Given the description of an element on the screen output the (x, y) to click on. 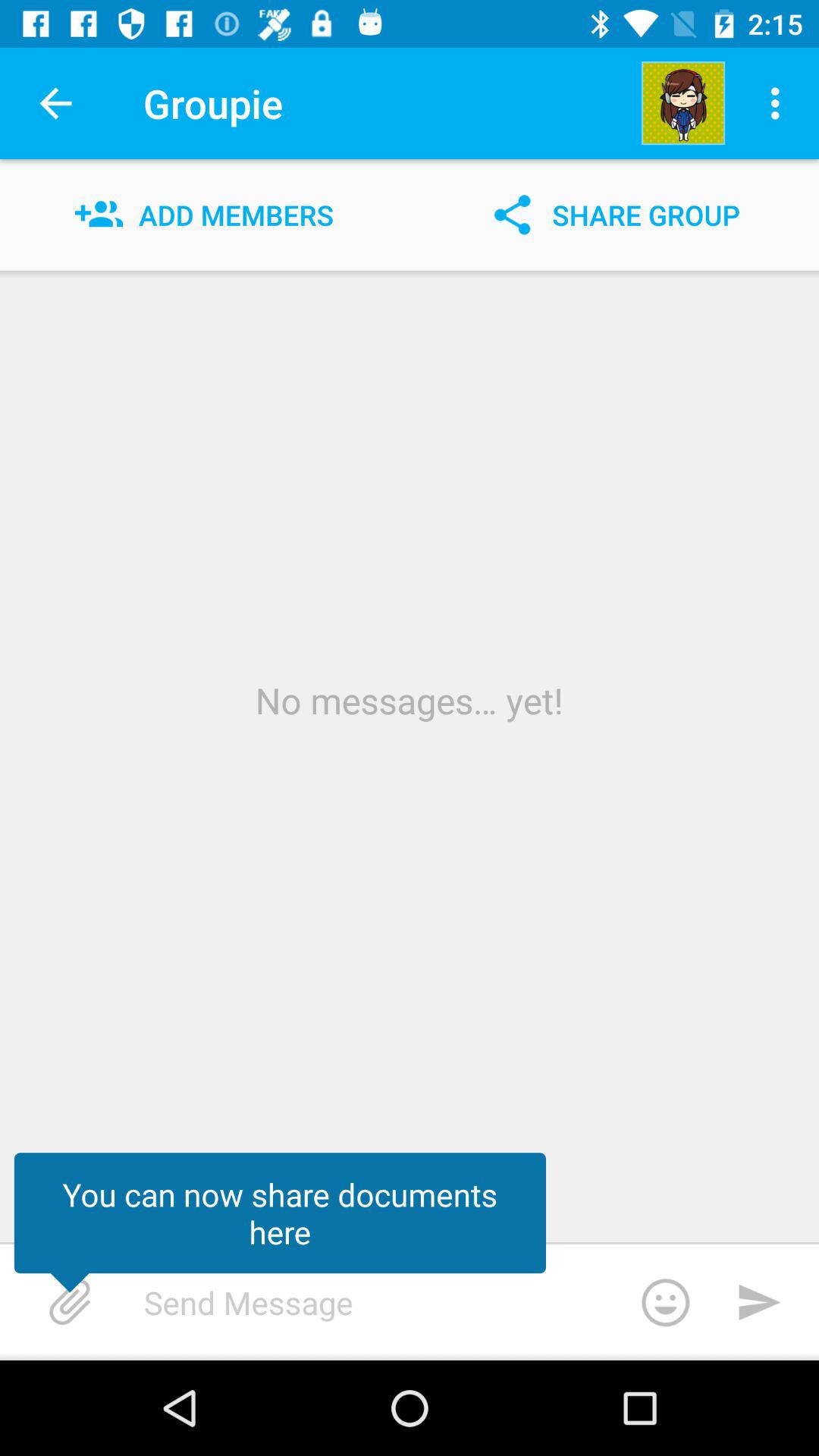
send a message to the group (428, 1302)
